Given the description of an element on the screen output the (x, y) to click on. 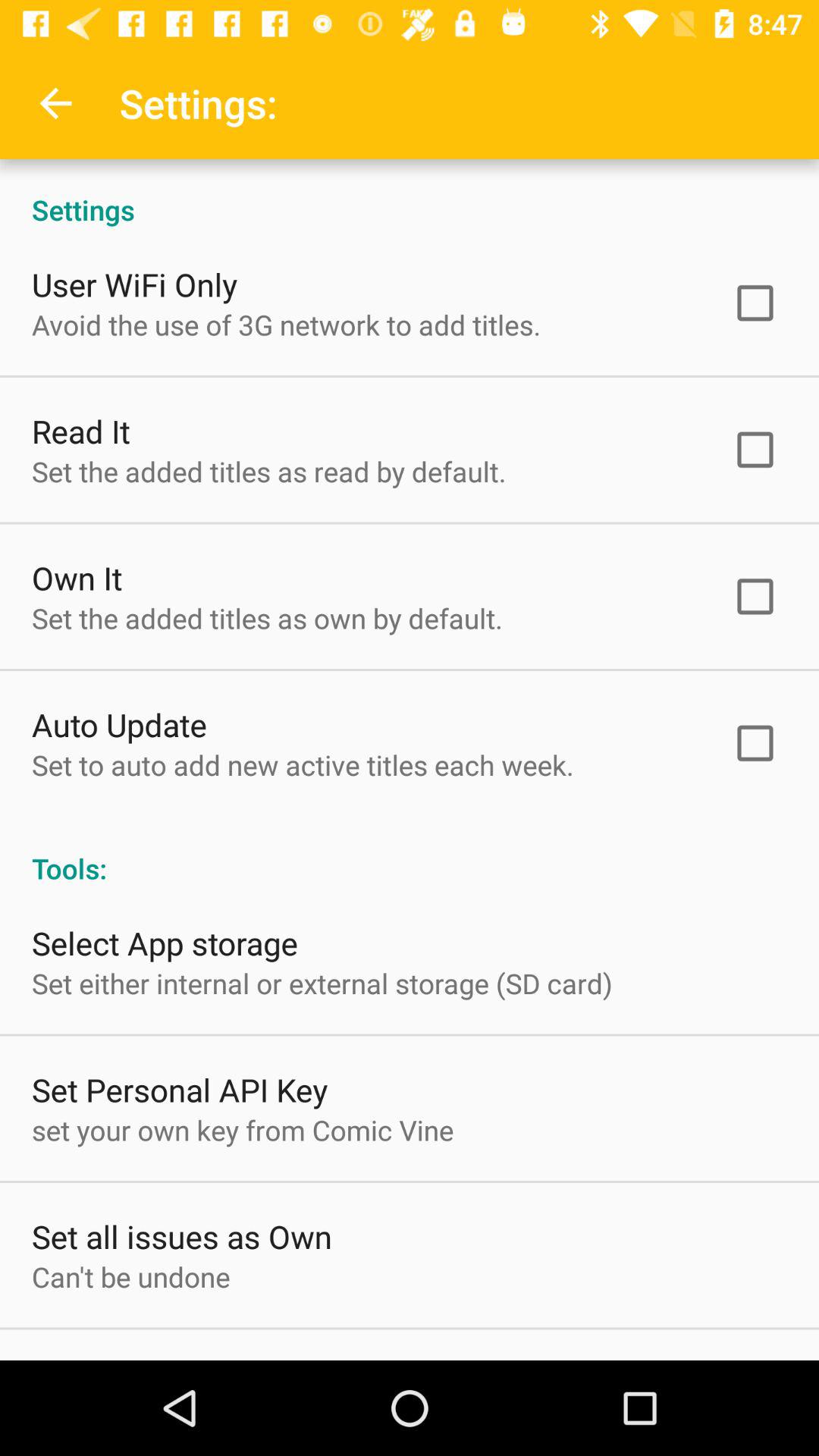
click the set to auto item (302, 764)
